Given the description of an element on the screen output the (x, y) to click on. 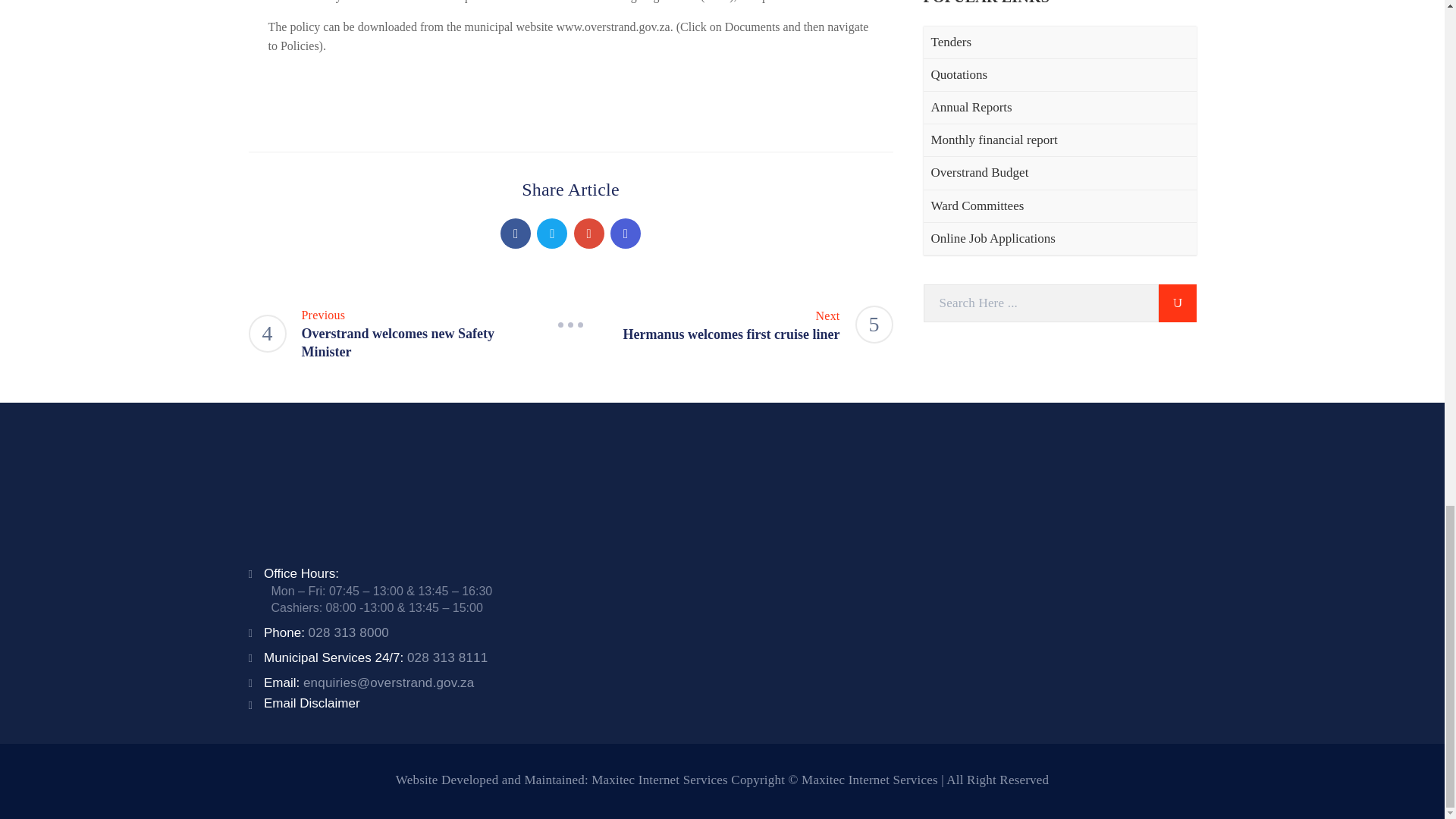
Linkedin (625, 233)
Pinterest (588, 233)
Slash (570, 324)
-34.4176194,19.2365405 (962, 577)
Twitter (552, 233)
Facebook (515, 233)
